Given the description of an element on the screen output the (x, y) to click on. 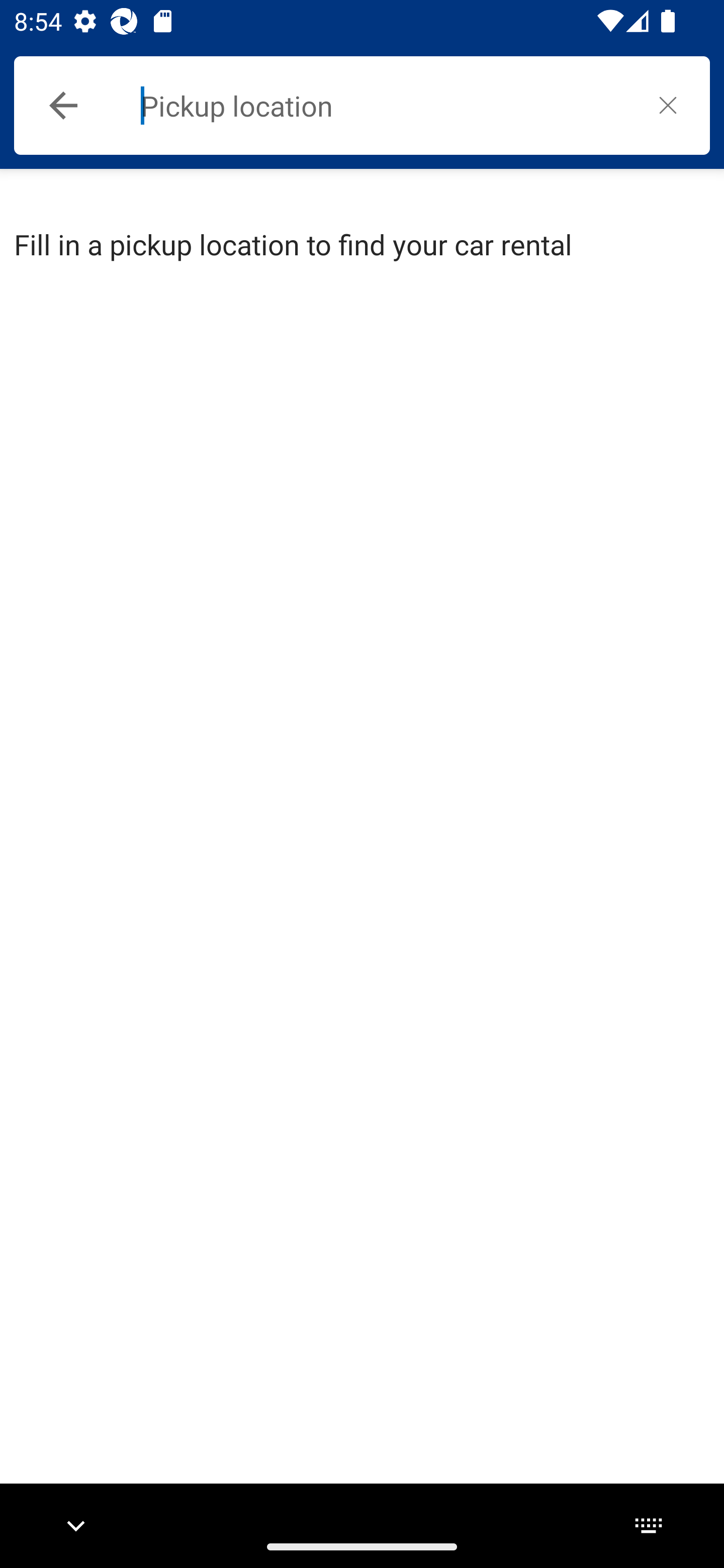
Navigate up (62, 105)
놕 (667, 104)
Pickup location (382, 105)
